Given the description of an element on the screen output the (x, y) to click on. 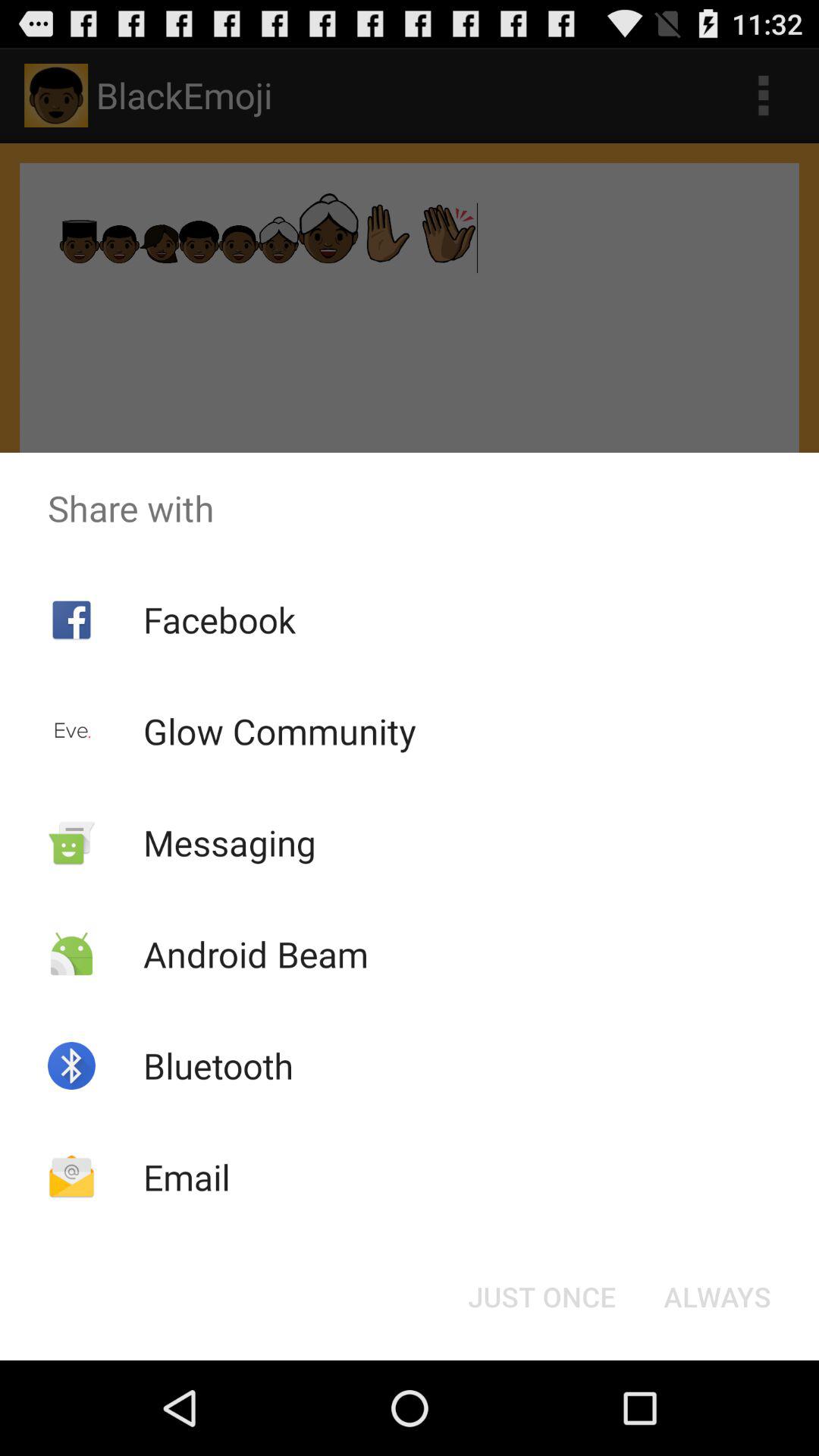
select the item to the left of always (541, 1296)
